Given the description of an element on the screen output the (x, y) to click on. 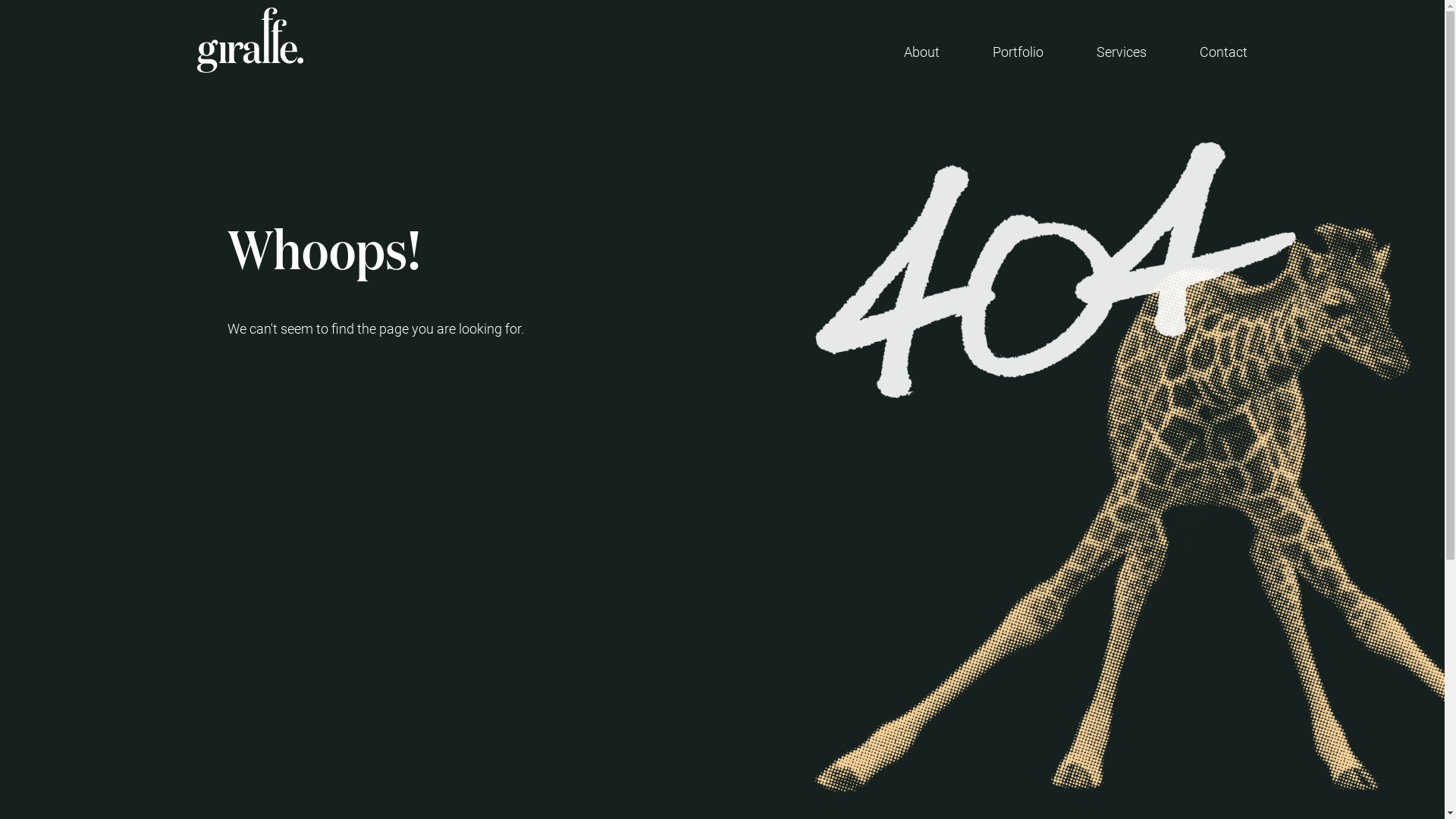
Services Element type: text (1121, 51)
About Element type: text (921, 51)
Contact Element type: text (1223, 51)
Portfolio Element type: text (1017, 51)
